Given the description of an element on the screen output the (x, y) to click on. 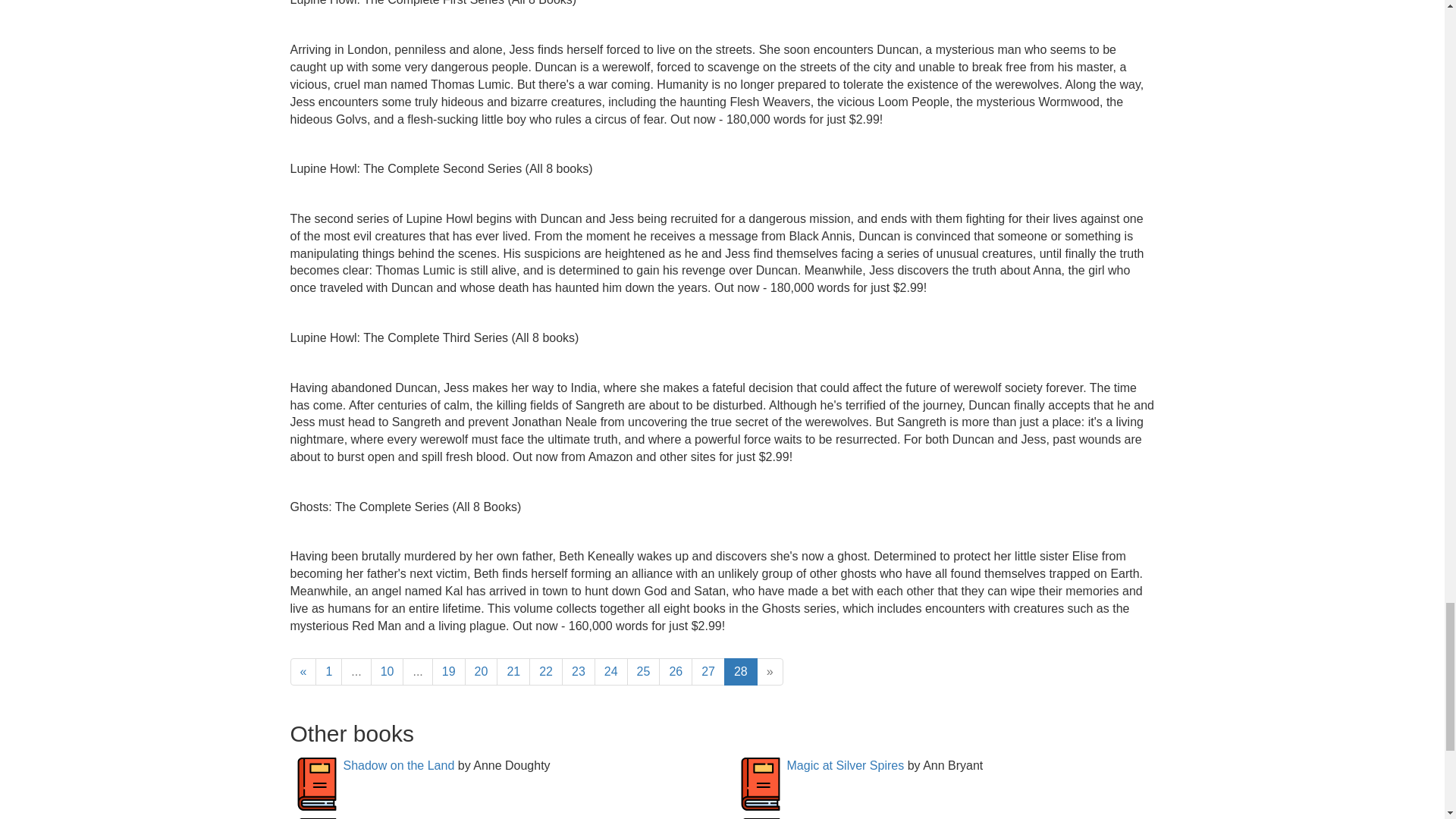
28 (740, 672)
Shadow on the Land (398, 765)
21 (512, 672)
25 (644, 672)
24 (610, 672)
10 (387, 672)
27 (708, 672)
Magic at Silver Spires (845, 765)
19 (448, 672)
1 (328, 672)
23 (578, 672)
26 (676, 672)
22 (545, 672)
20 (480, 672)
